Given the description of an element on the screen output the (x, y) to click on. 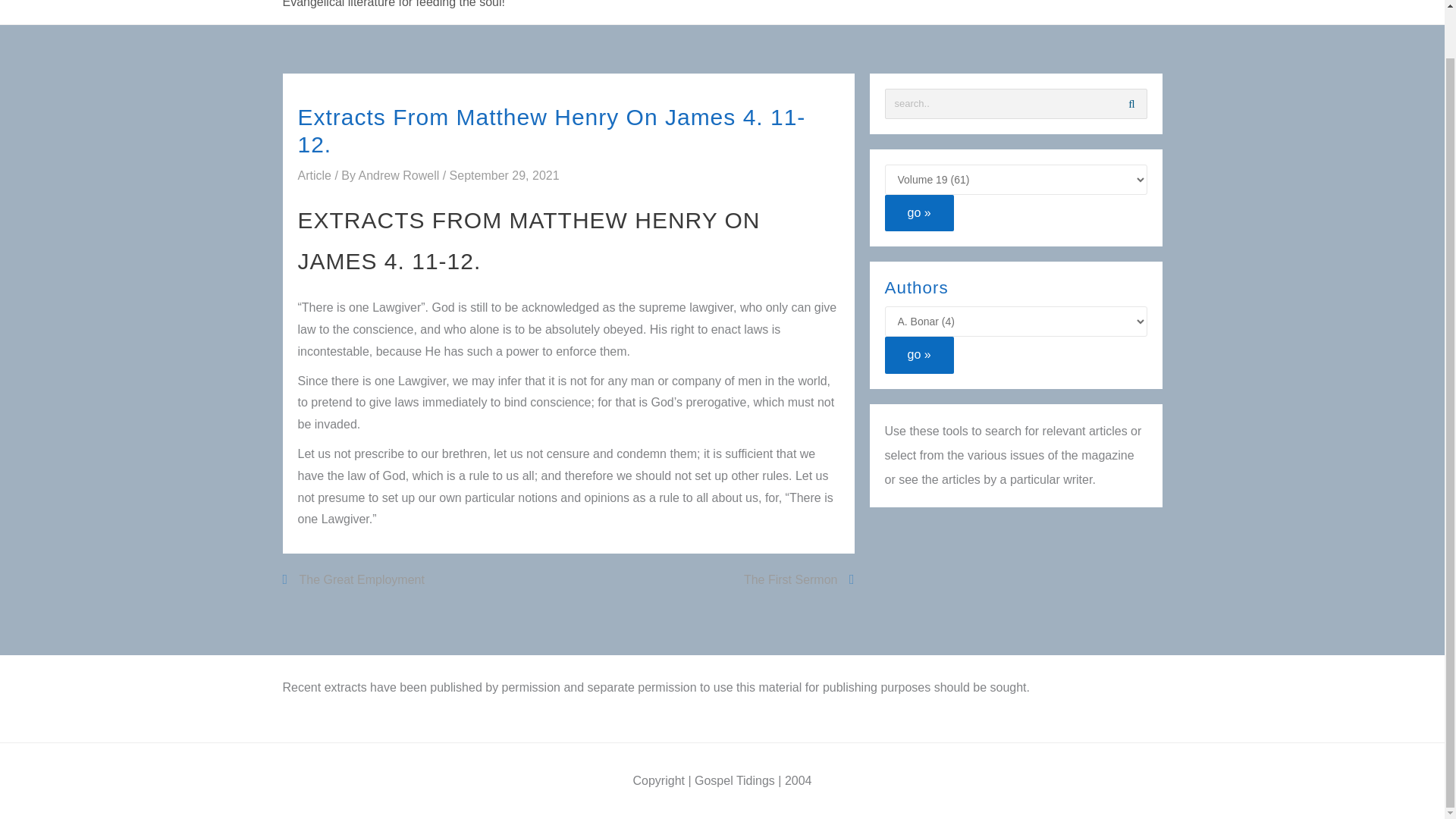
The Great Employment (353, 579)
Past Magazines (1107, 4)
Introduction (1009, 4)
Andrew Rowell (400, 174)
Search (1131, 103)
Article (313, 174)
Search (1131, 103)
View all posts by Andrew Rowell (400, 174)
The First Sermon (798, 579)
News (939, 4)
